Given the description of an element on the screen output the (x, y) to click on. 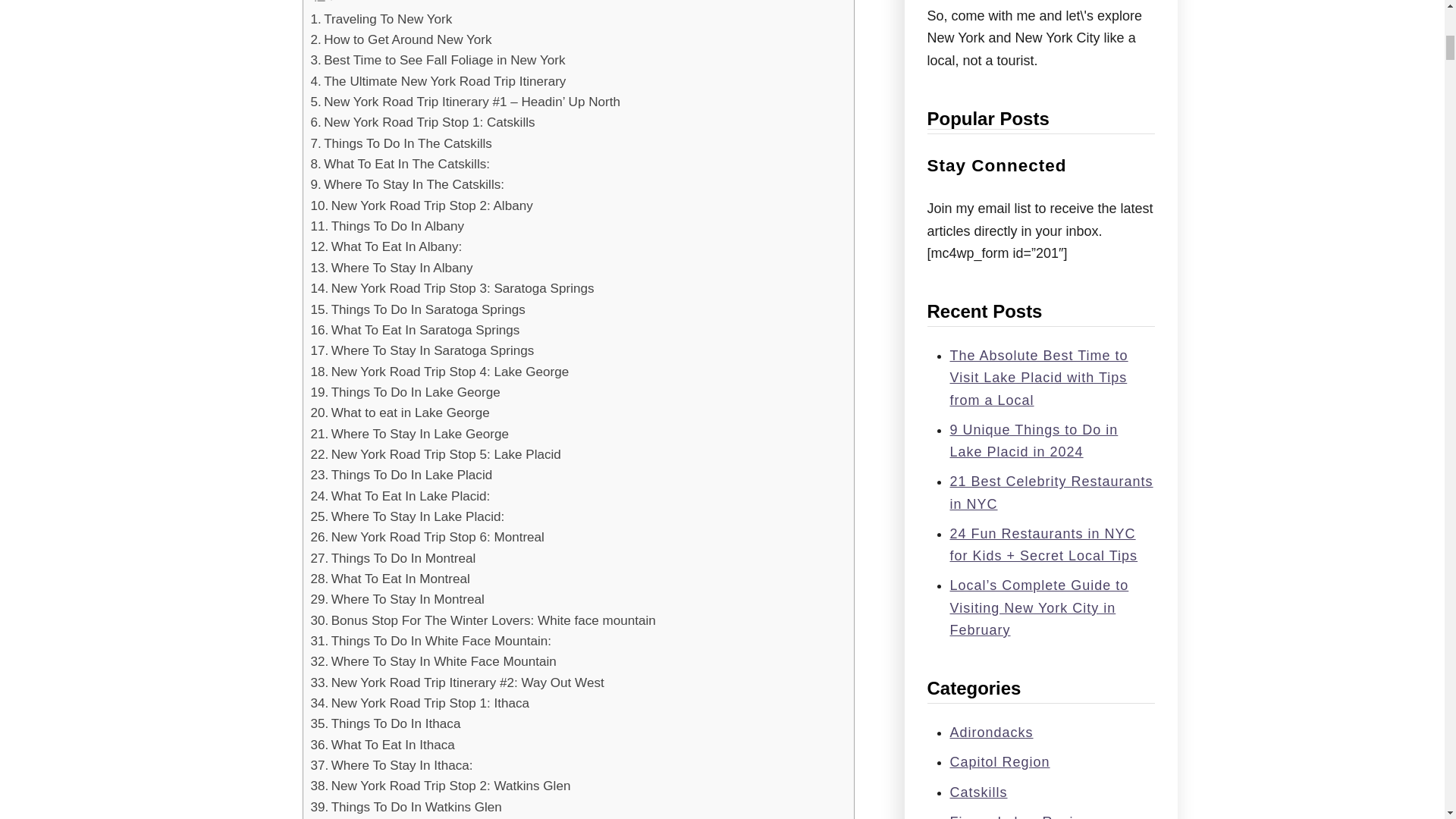
New York Road Trip Stop 2: Albany (421, 205)
Where To Stay In The Catskills:  (409, 184)
The Ultimate New York Road Trip Itinerary (438, 81)
Things To Do In The Catskills (401, 143)
New York Road Trip Stop 3: Saratoga Springs (452, 288)
Best Time to See Fall Foliage in New York (438, 59)
How to Get Around New York (401, 39)
The Ultimate New York Road Trip Itinerary (438, 81)
New York Road Trip Stop 1: Catskills (423, 122)
What To Eat In The Catskills: (400, 163)
Traveling To New York (381, 19)
Where To Stay In Albany (392, 267)
Best Time to See Fall Foliage in New York (438, 59)
Traveling To New York (381, 19)
